Given the description of an element on the screen output the (x, y) to click on. 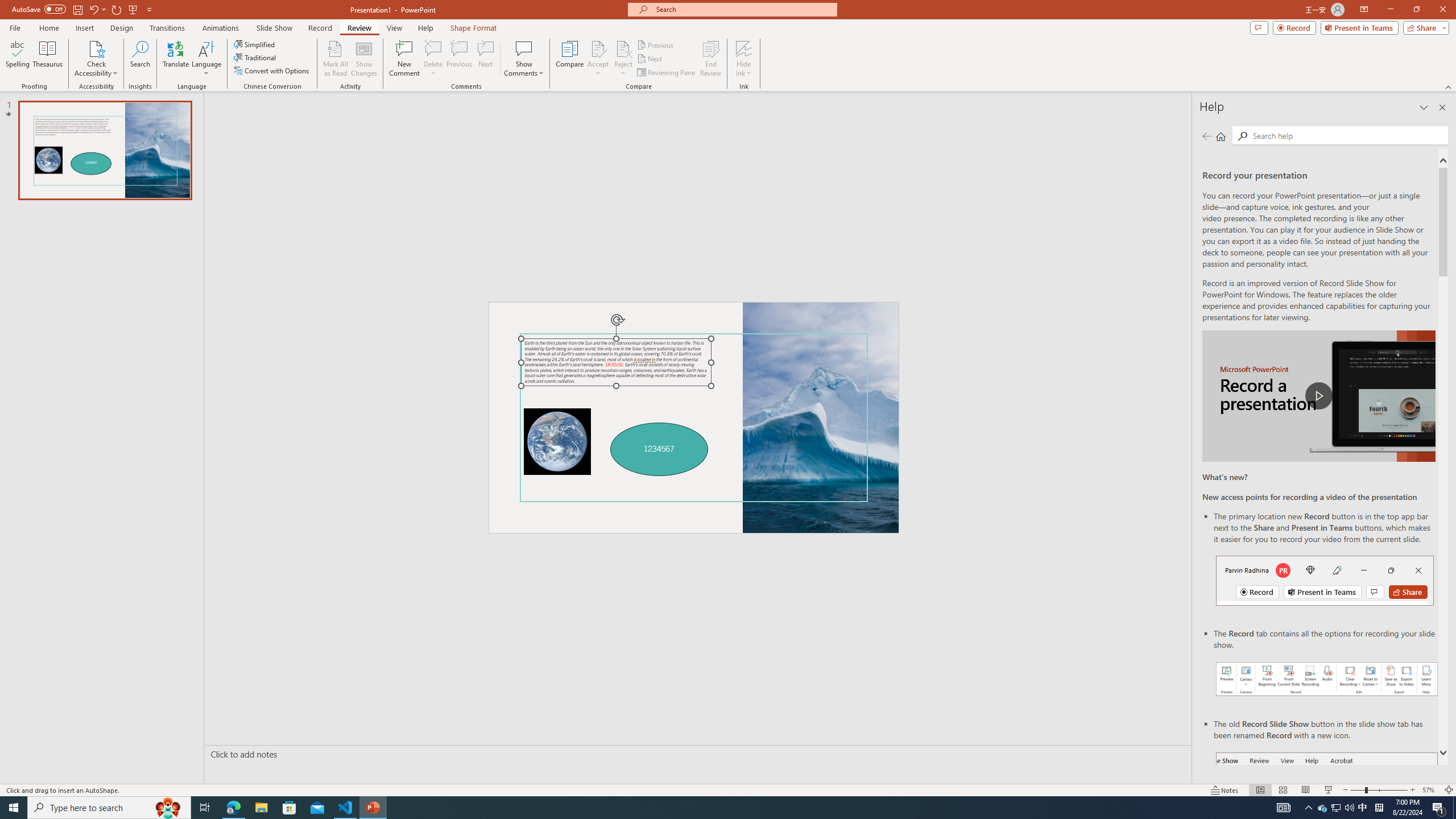
Record button in top bar (1324, 580)
play Record a Presentation (1318, 395)
Previous (655, 44)
